Given the description of an element on the screen output the (x, y) to click on. 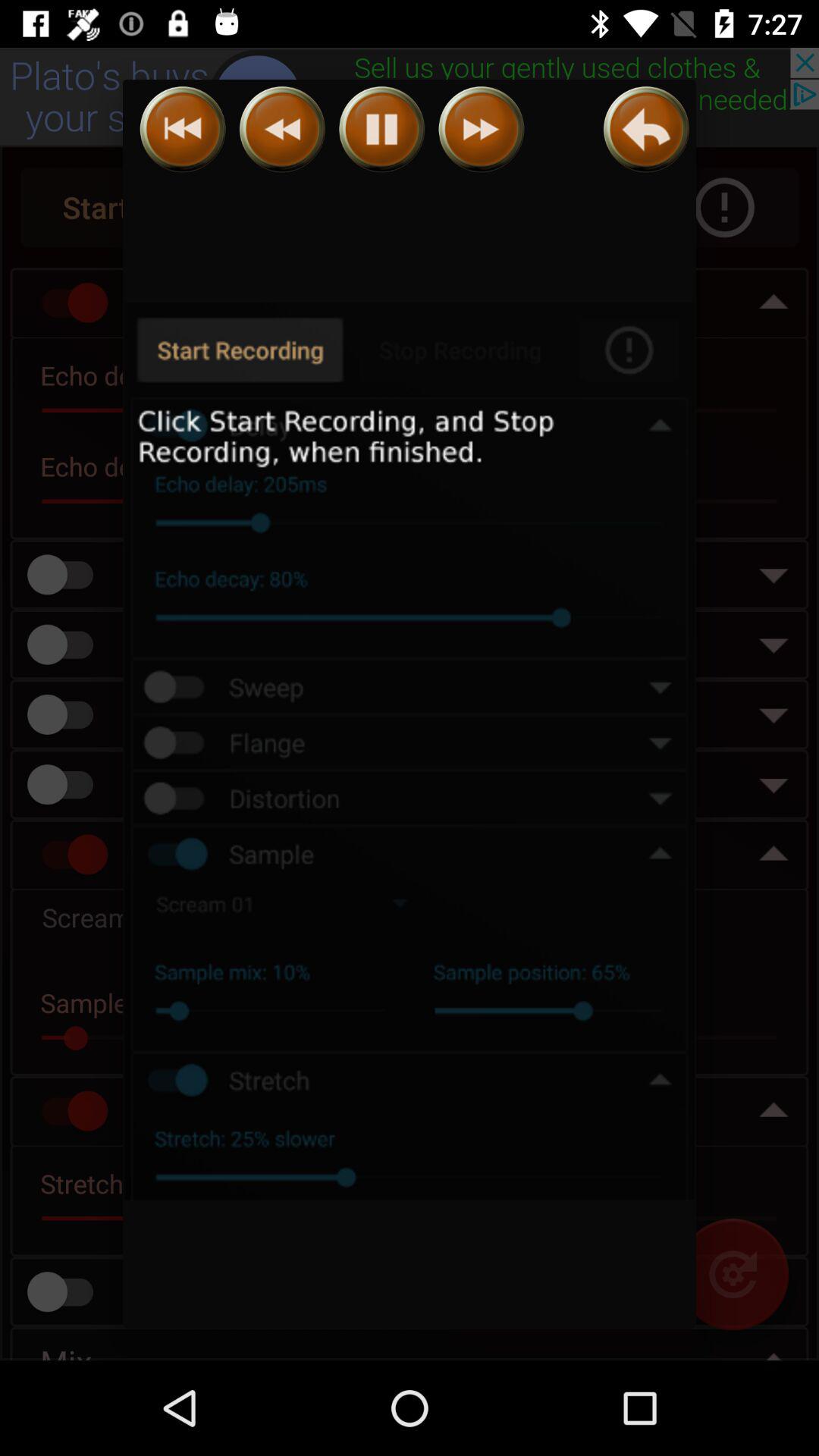
rewind (182, 129)
